Given the description of an element on the screen output the (x, y) to click on. 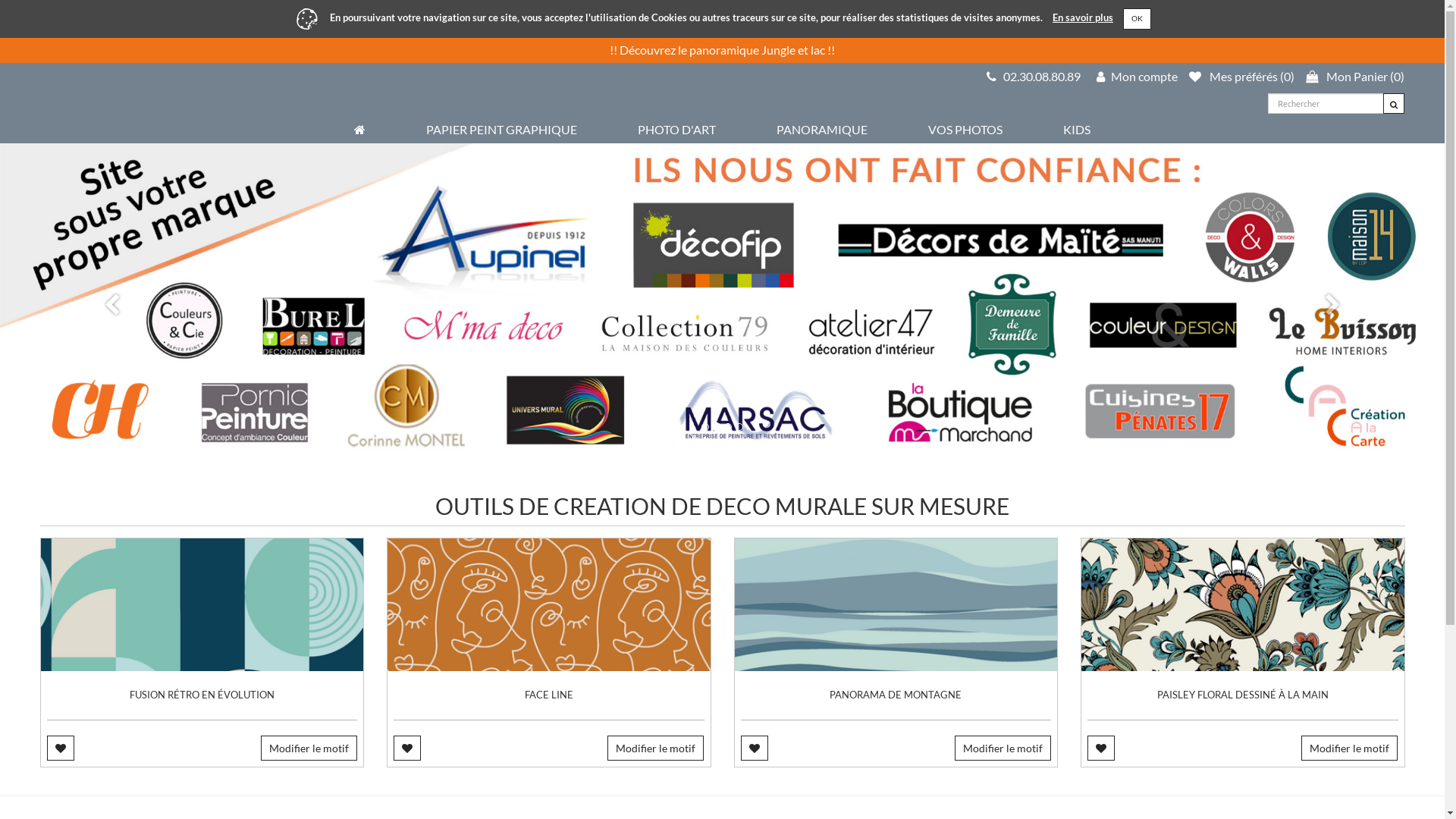
Modifier le motif Element type: text (1349, 747)
Modifier le motif Element type: text (655, 747)
En savoir plus Element type: text (1082, 17)
Suivant Element type: text (1335, 301)
VOS PHOTOS Element type: text (965, 129)
Modifier le motif Element type: text (1002, 747)
Mon compte Element type: text (1136, 76)
Mon Panier (0) Element type: text (1354, 76)
PHOTO D'ART Element type: text (676, 129)
PAPIER PEINT GRAPHIQUE Element type: text (501, 129)
OK Element type: text (1137, 18)
PANORAMIQUE Element type: text (821, 129)
Modifier le motif Element type: text (308, 747)
KIDS Element type: text (1076, 129)
